Given the description of an element on the screen output the (x, y) to click on. 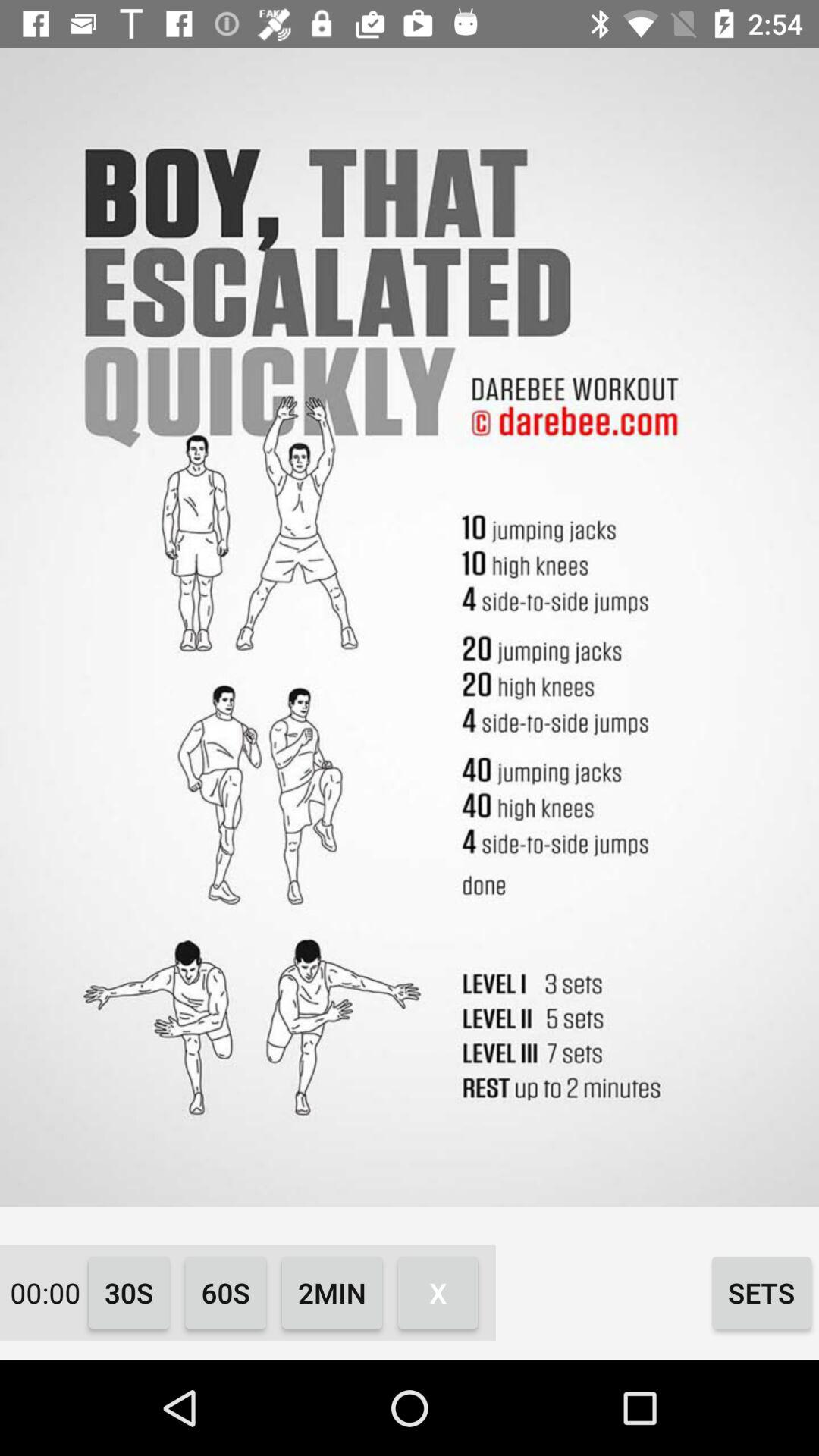
click icon next to x item (761, 1292)
